Given the description of an element on the screen output the (x, y) to click on. 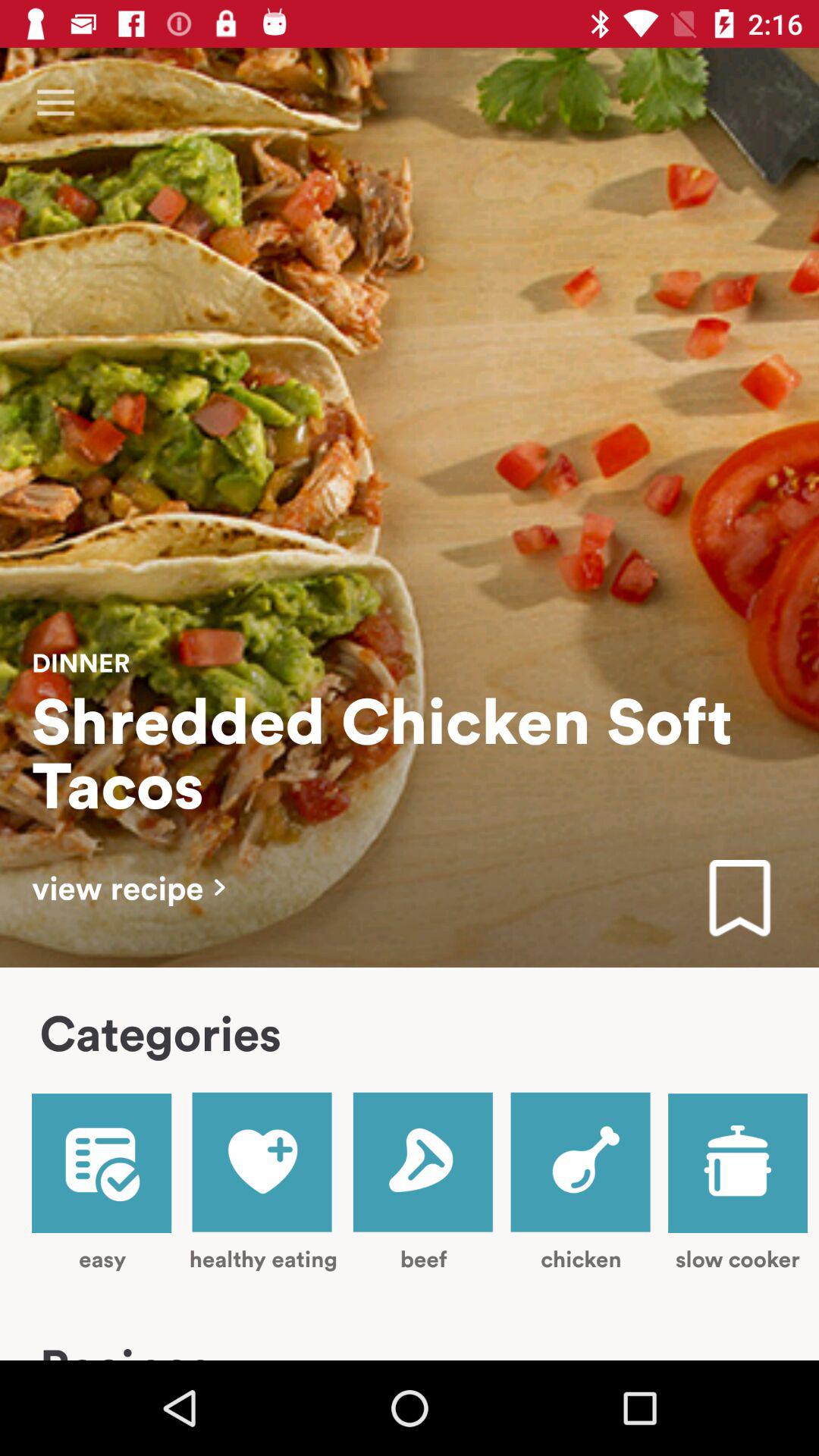
open item on the right (739, 899)
